Given the description of an element on the screen output the (x, y) to click on. 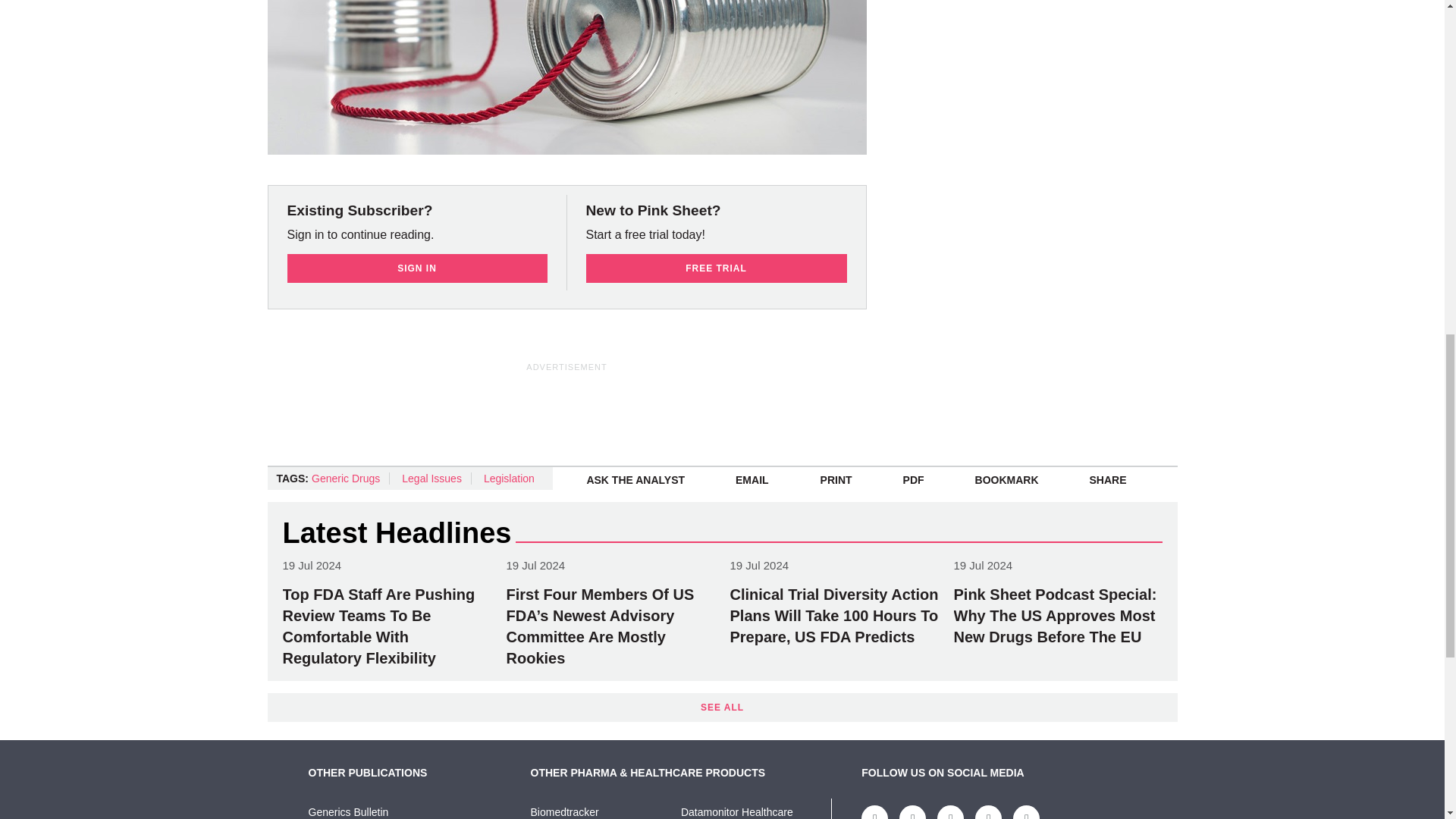
3rd party ad content (1070, 111)
3rd party ad content (634, 408)
